Given the description of an element on the screen output the (x, y) to click on. 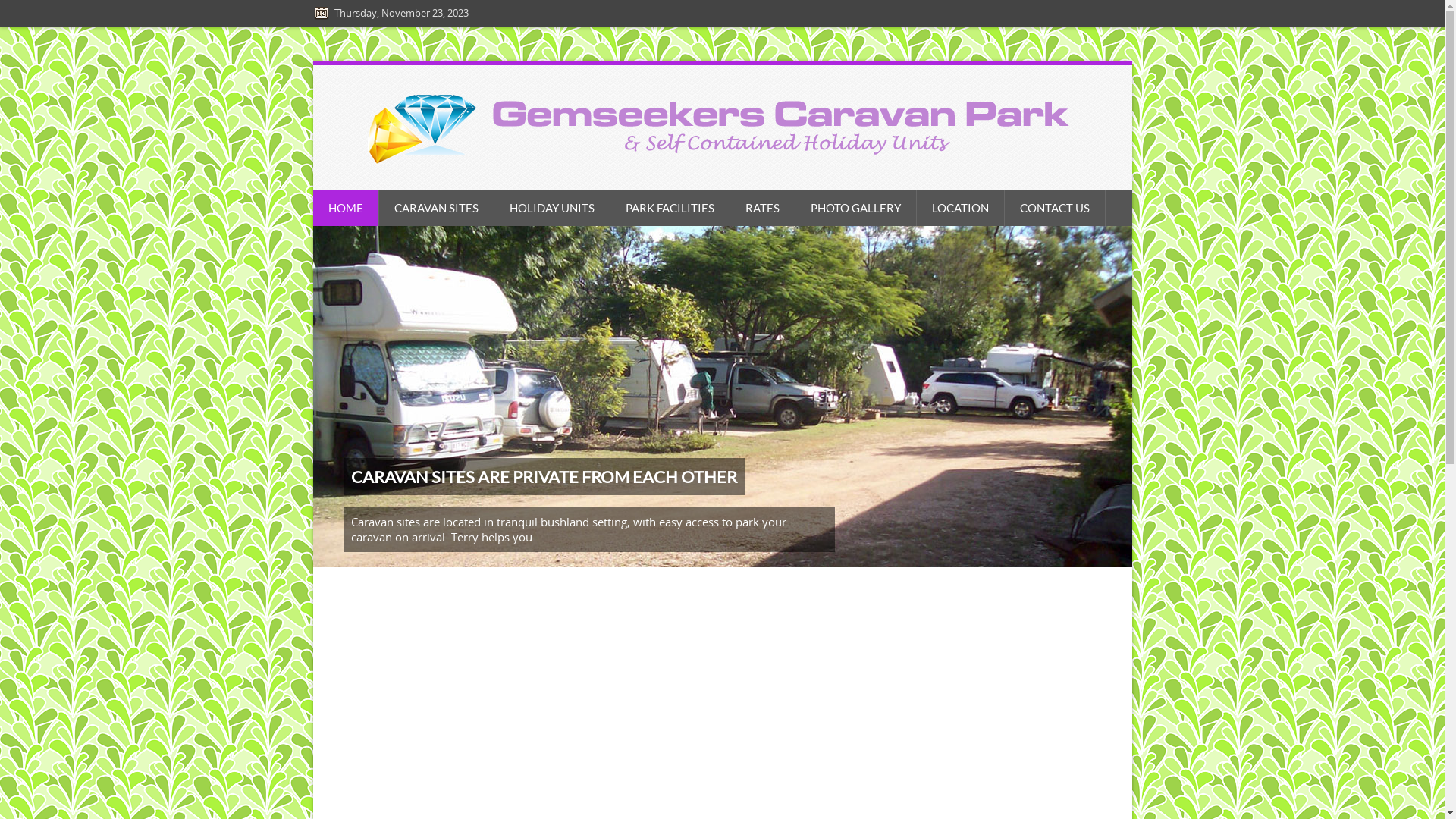
RATES Element type: text (761, 207)
LOCATION Element type: text (960, 207)
HOLIDAY UNITS Element type: text (552, 207)
PARK FACILITIES Element type: text (669, 207)
PHOTO GALLERY Element type: text (855, 207)
CONTACT US Element type: text (1054, 207)
CARAVAN SITES Element type: text (436, 207)
HOME Element type: text (345, 207)
